Given the description of an element on the screen output the (x, y) to click on. 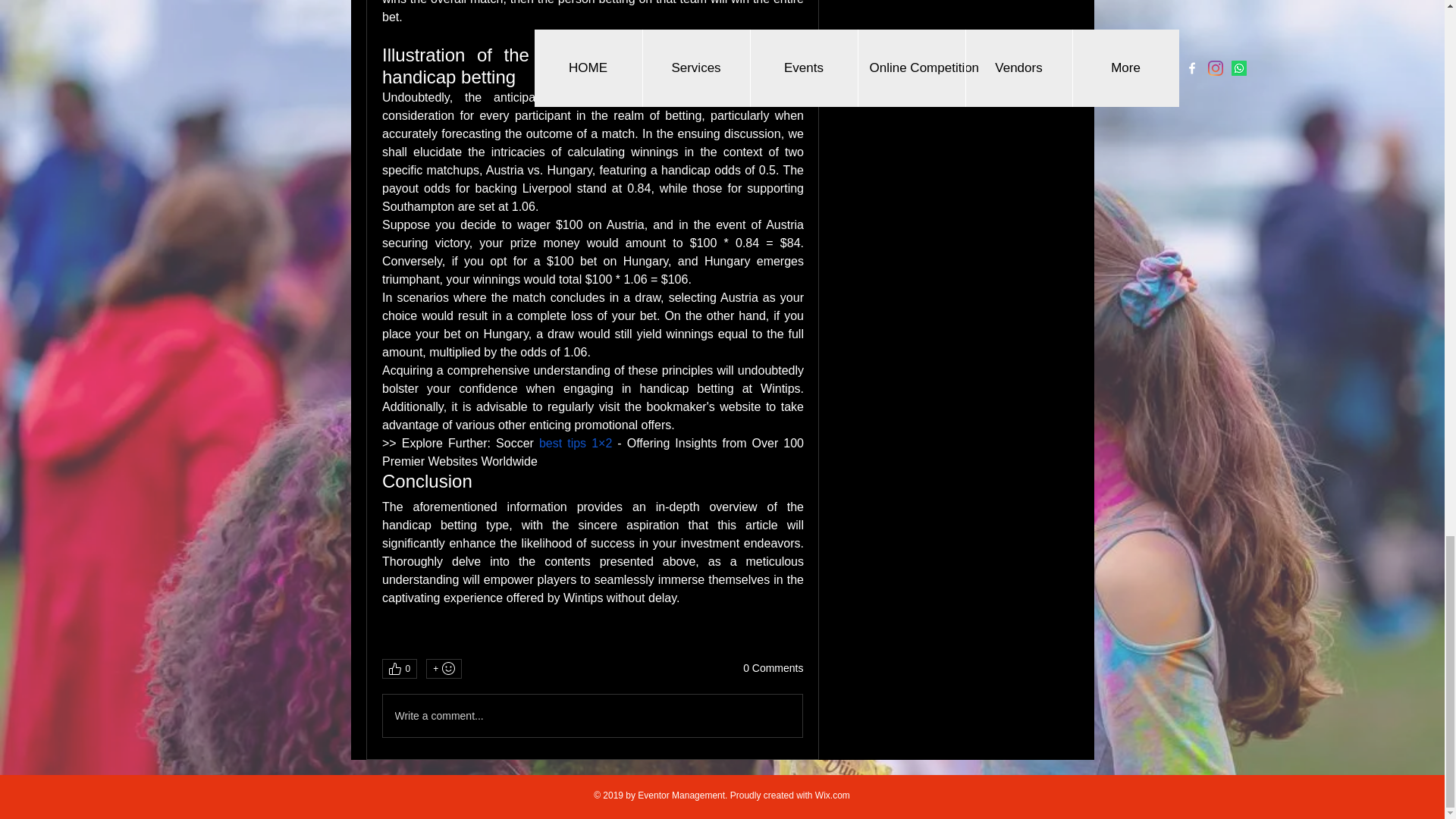
0 Comments (772, 668)
Write a comment... (591, 715)
